Given the description of an element on the screen output the (x, y) to click on. 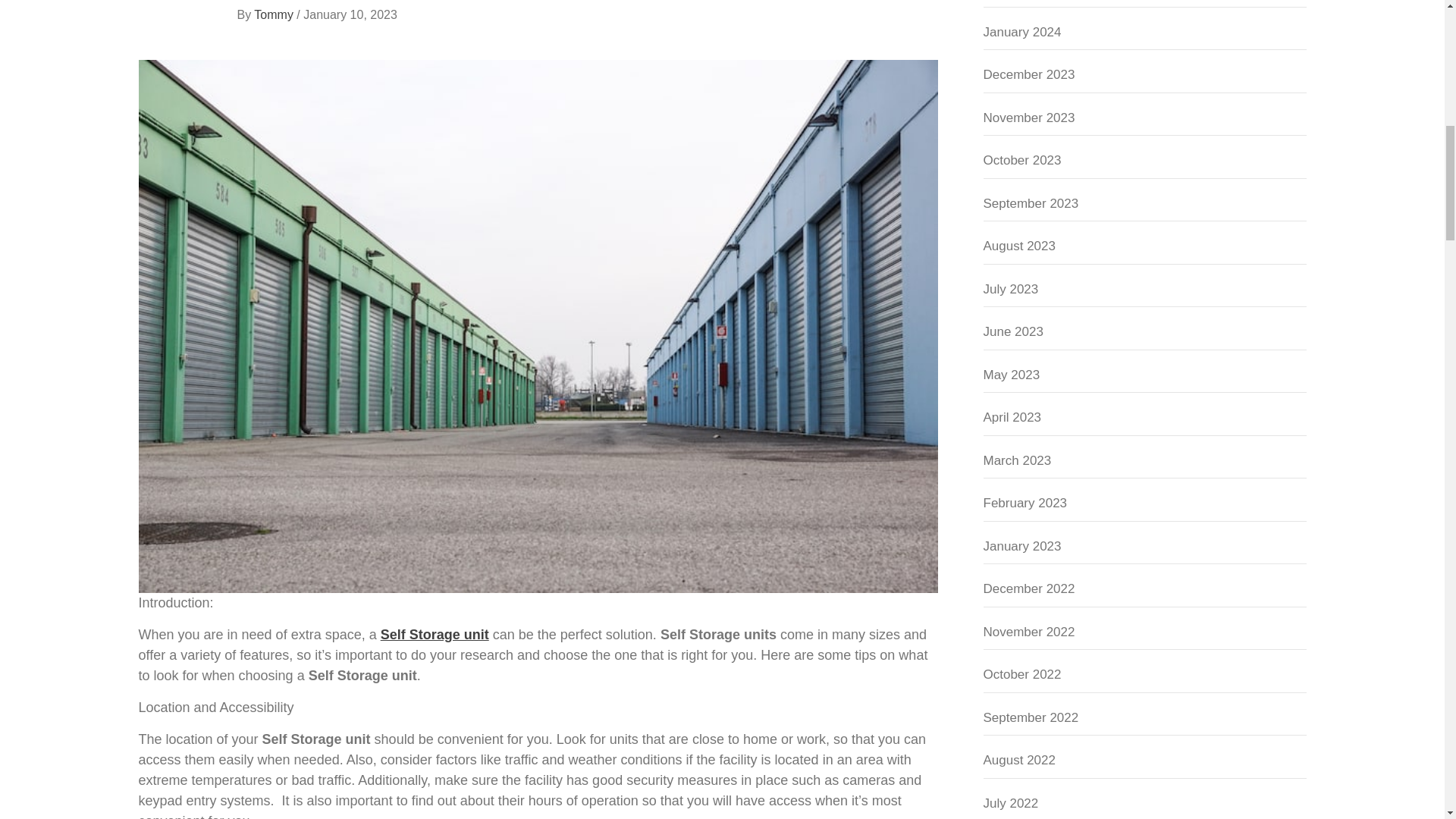
Tommy (275, 14)
Self Storage unit (434, 634)
